Given the description of an element on the screen output the (x, y) to click on. 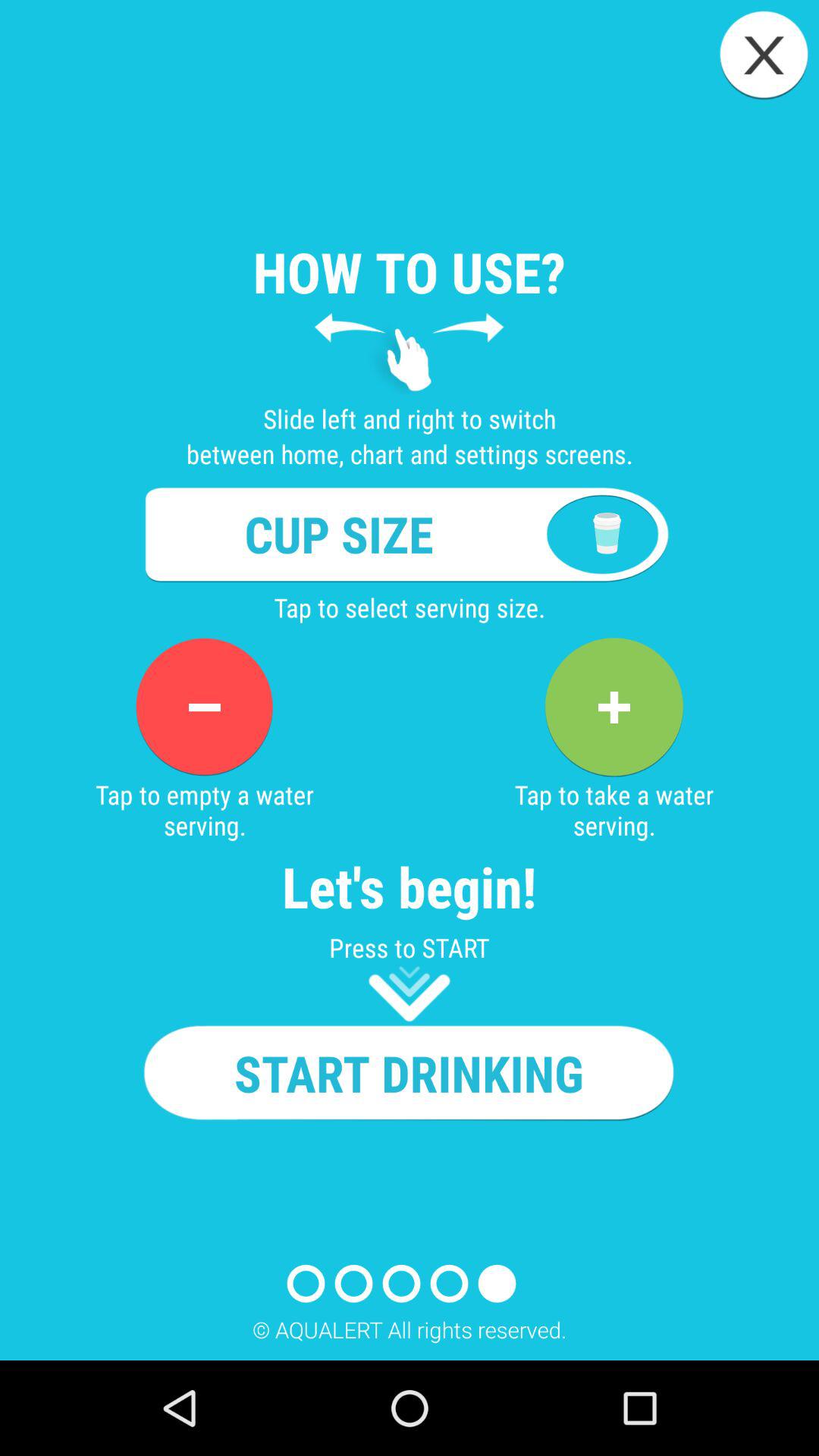
tap to less (204, 706)
